Given the description of an element on the screen output the (x, y) to click on. 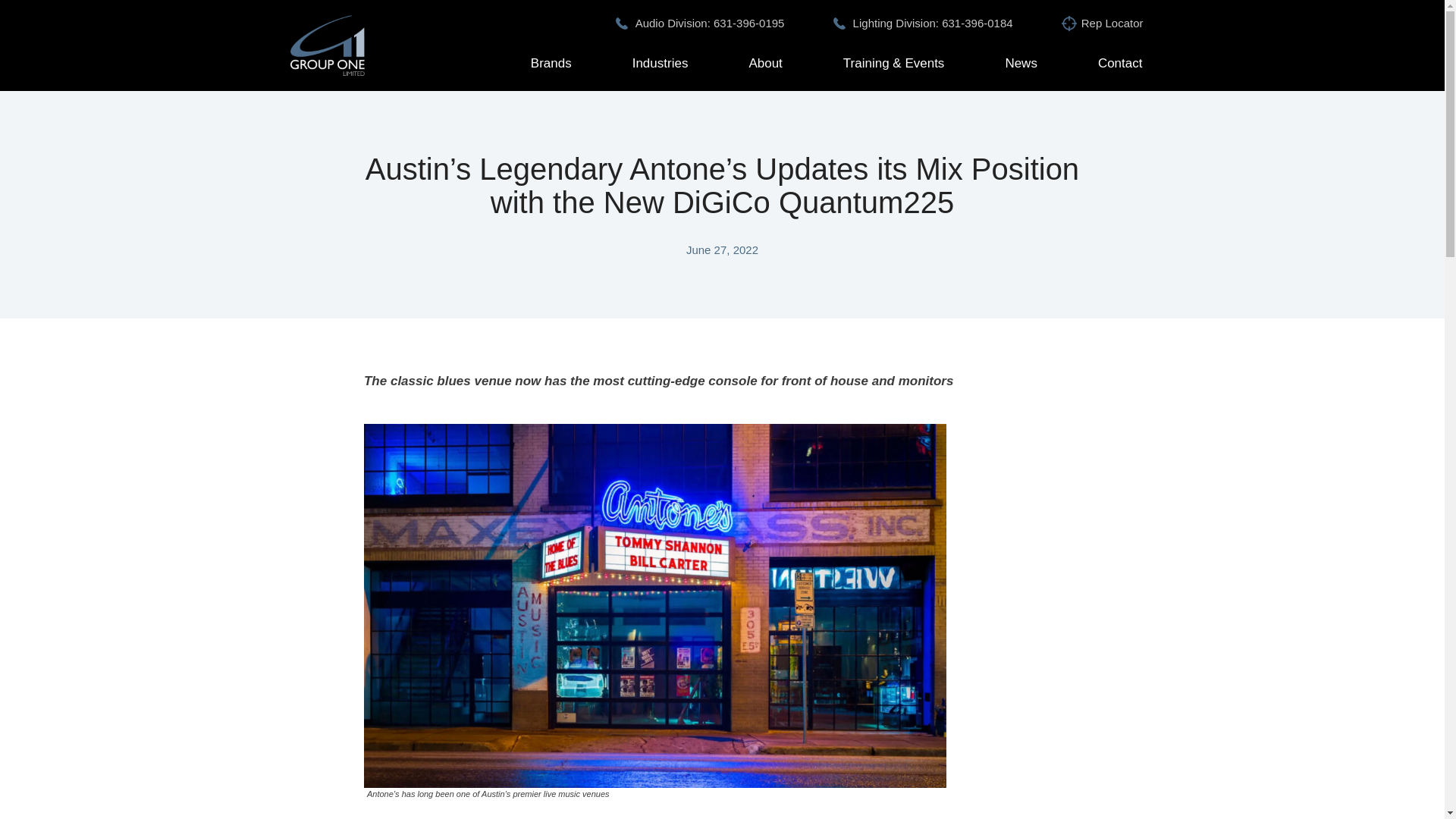
News (1020, 63)
Audio Division: 631-396-0195 (709, 22)
Rep Locator (1111, 22)
Brands (551, 63)
Contact (1119, 63)
About (764, 63)
Lighting Division: 631-396-0184 (933, 22)
Industries (659, 63)
